Given the description of an element on the screen output the (x, y) to click on. 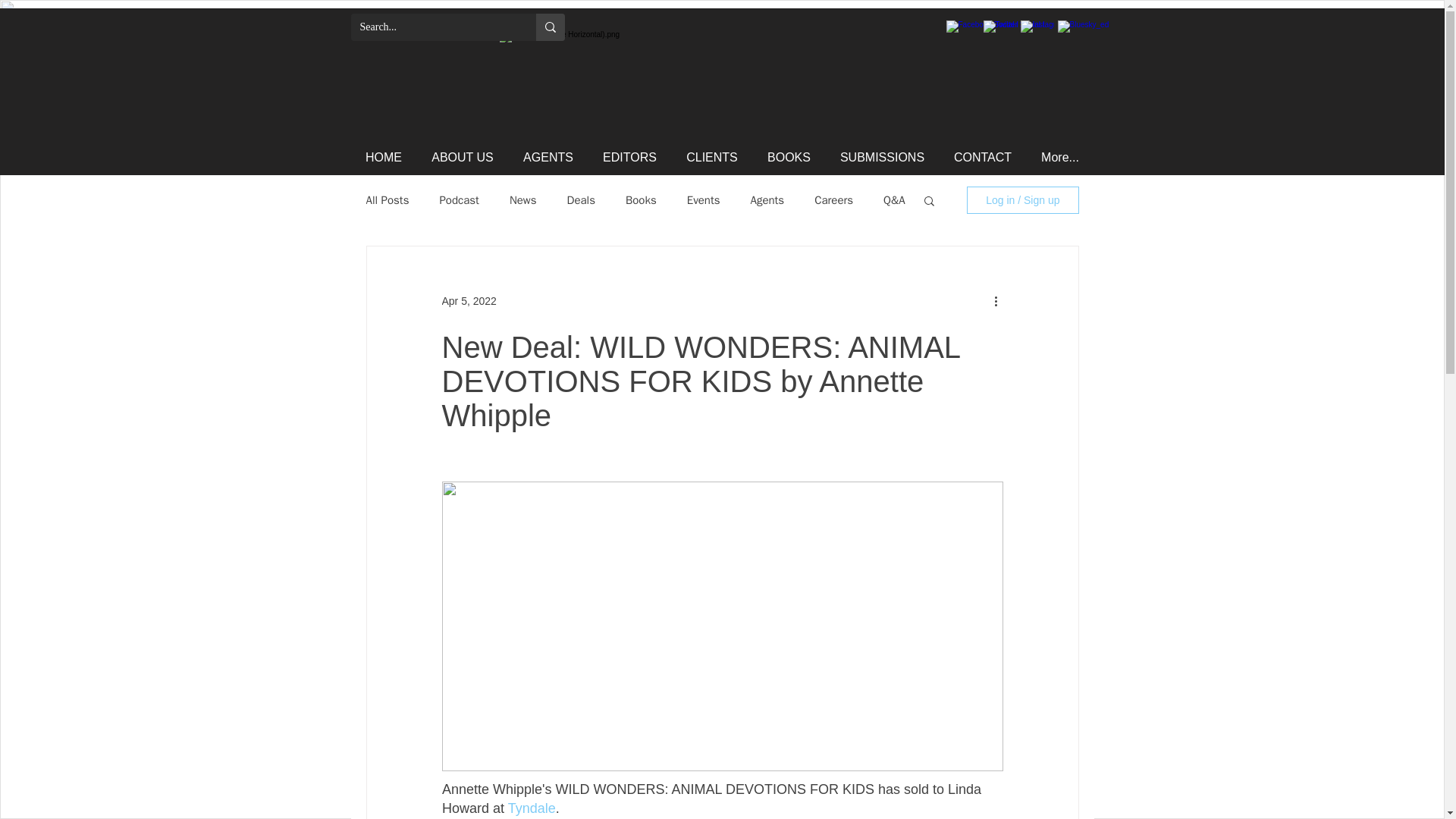
Apr 5, 2022 (468, 300)
Agents (767, 199)
All Posts (387, 199)
Books (641, 199)
Podcast (459, 199)
Events (703, 199)
Deals (581, 199)
Careers (833, 199)
Tyndale (530, 807)
News (523, 199)
